Given the description of an element on the screen output the (x, y) to click on. 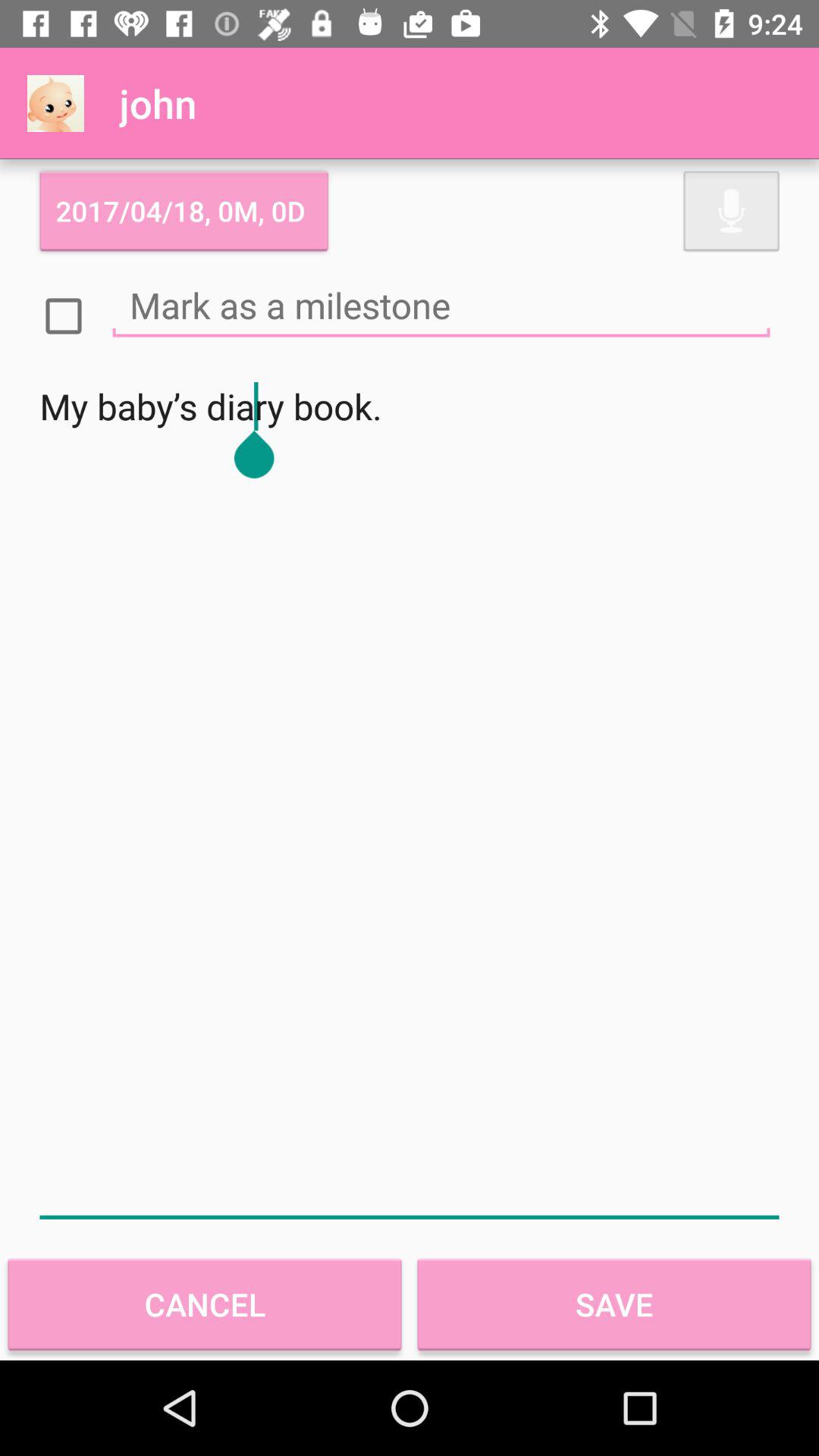
choose item below my baby s (204, 1304)
